Given the description of an element on the screen output the (x, y) to click on. 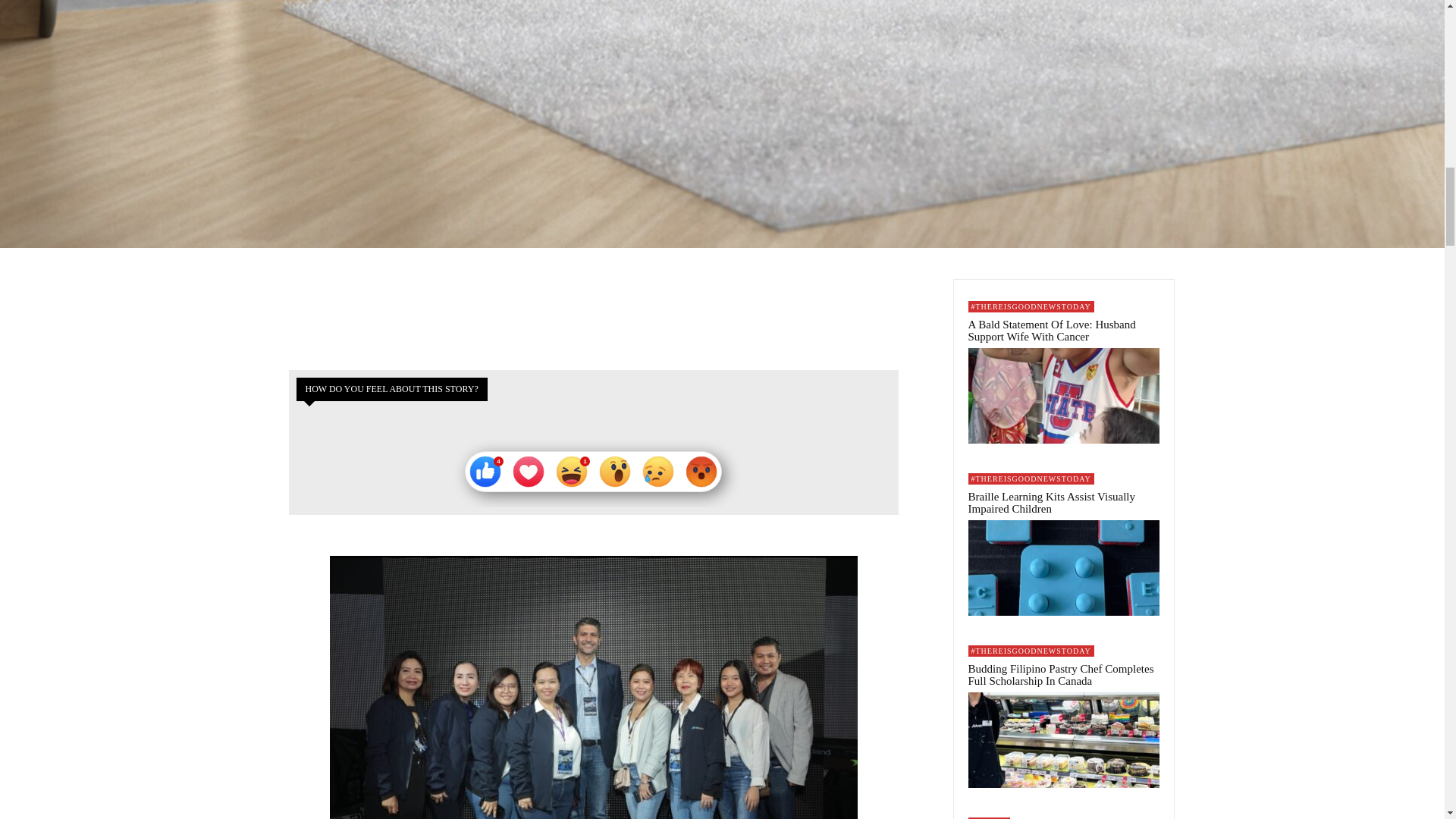
A Bald Statement Of Love: Husband Support Wife With Cancer (1051, 330)
STORIES (988, 818)
A Bald Statement Of Love: Husband Support Wife With Cancer (1063, 395)
A Bald Statement Of Love: Husband Support Wife With Cancer (1051, 330)
Braille Learning Kits Assist Visually Impaired Children (1051, 502)
